Given the description of an element on the screen output the (x, y) to click on. 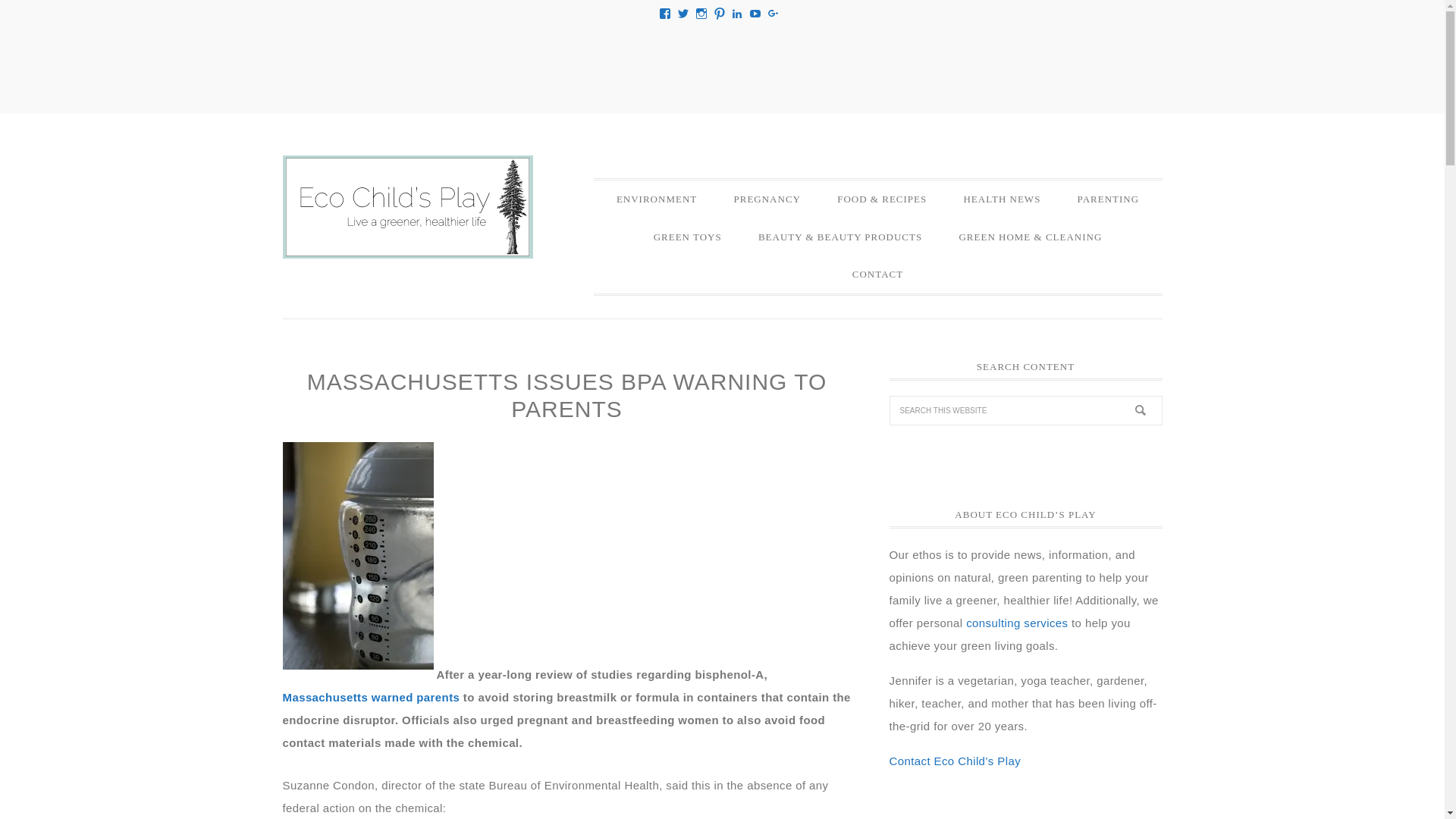
ECO CHILD'S PLAY (407, 206)
CONTACT (877, 274)
ENVIRONMENT (656, 199)
PREGNANCY (766, 199)
HEALTH NEWS (1001, 199)
PARENTING (1108, 199)
Massachusetts warned parents (371, 696)
GREEN TOYS (687, 237)
Advertisement (721, 64)
